Given the description of an element on the screen output the (x, y) to click on. 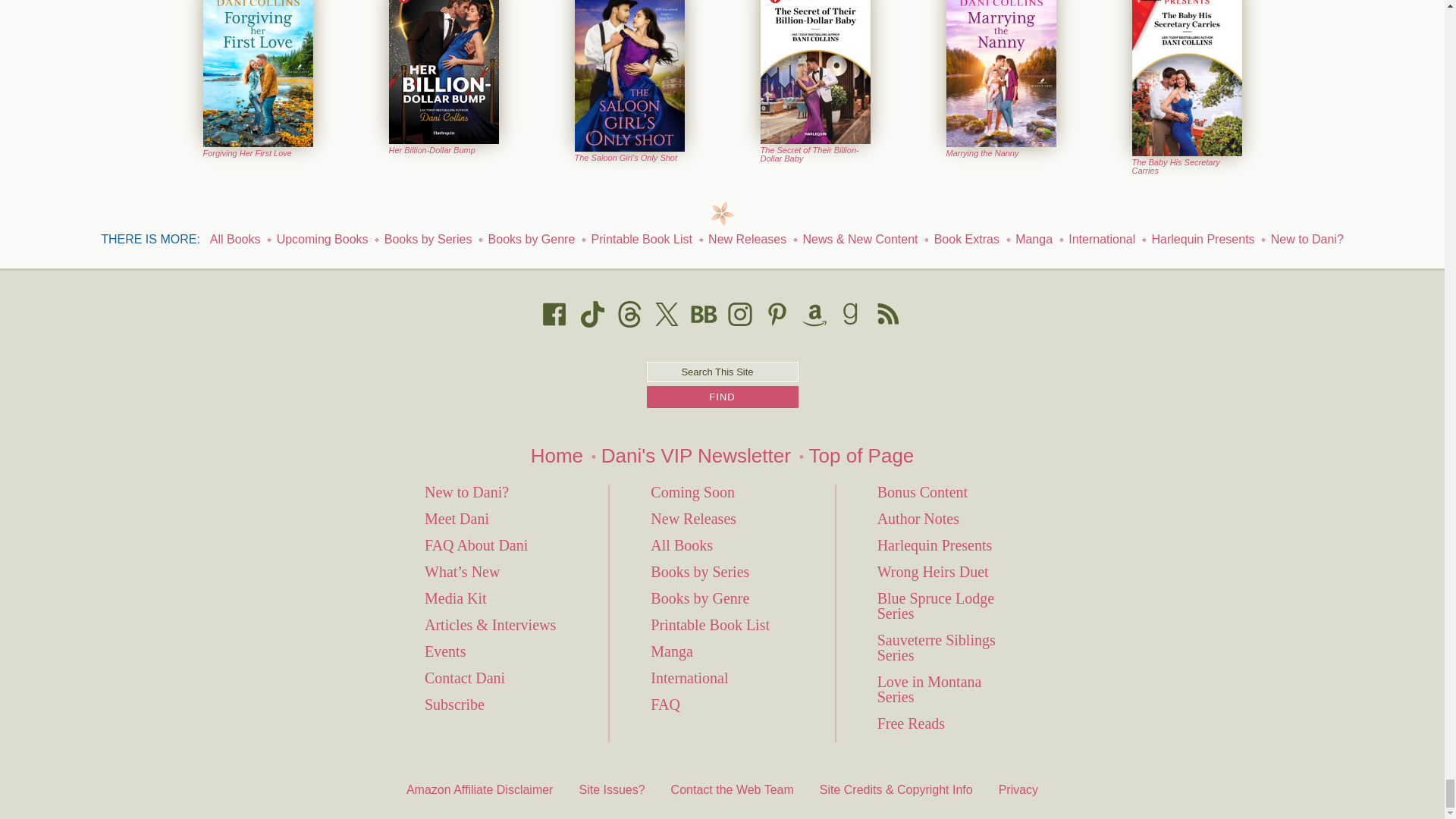
Search This Site (721, 371)
Search This Site (721, 371)
Find (721, 396)
Search for: (721, 371)
